Given the description of an element on the screen output the (x, y) to click on. 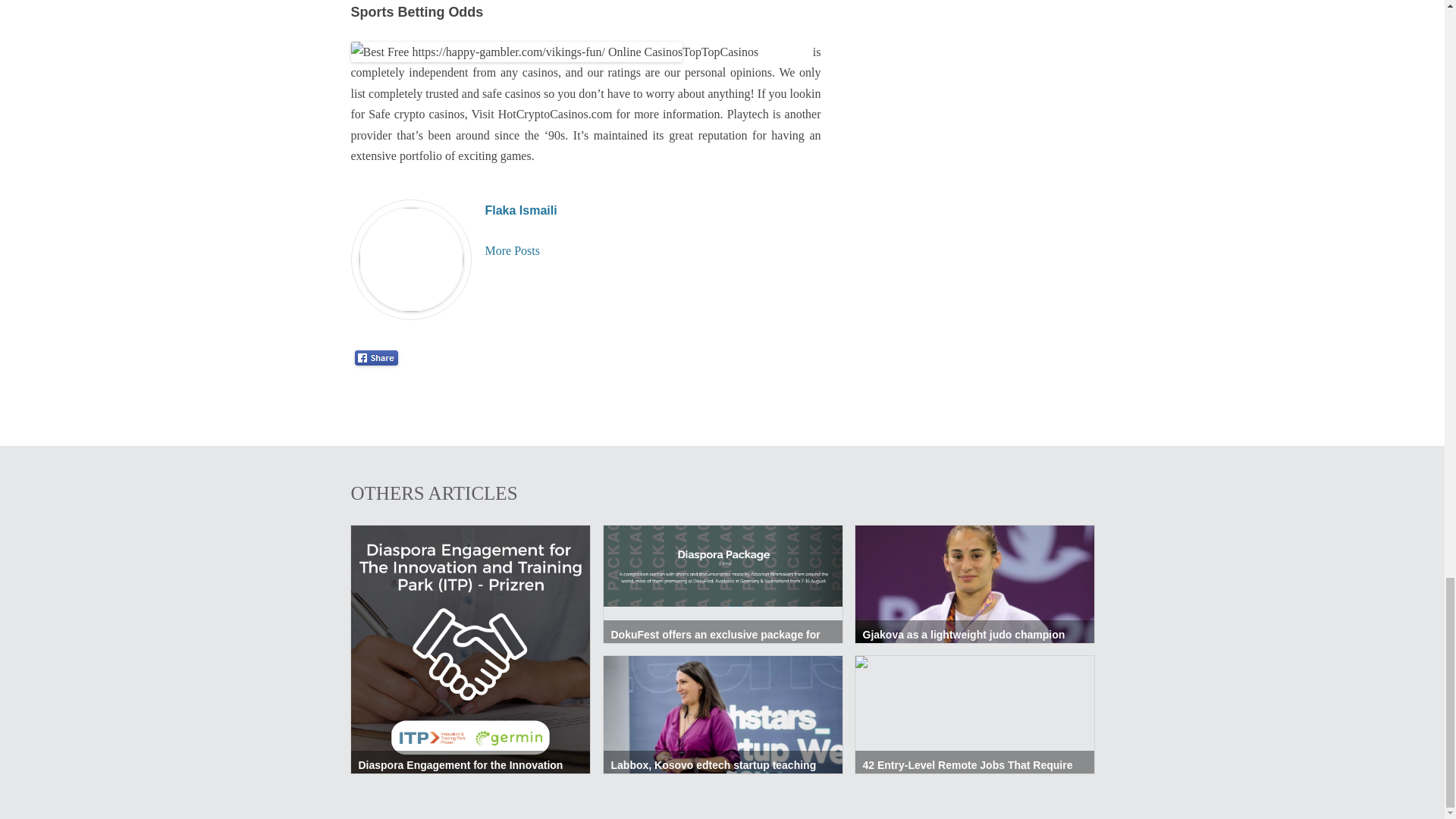
Flaka Ismaili (520, 210)
More Posts (512, 250)
More posts by Flaka Ismaili (512, 250)
Flaka Ismaili (520, 210)
